Given the description of an element on the screen output the (x, y) to click on. 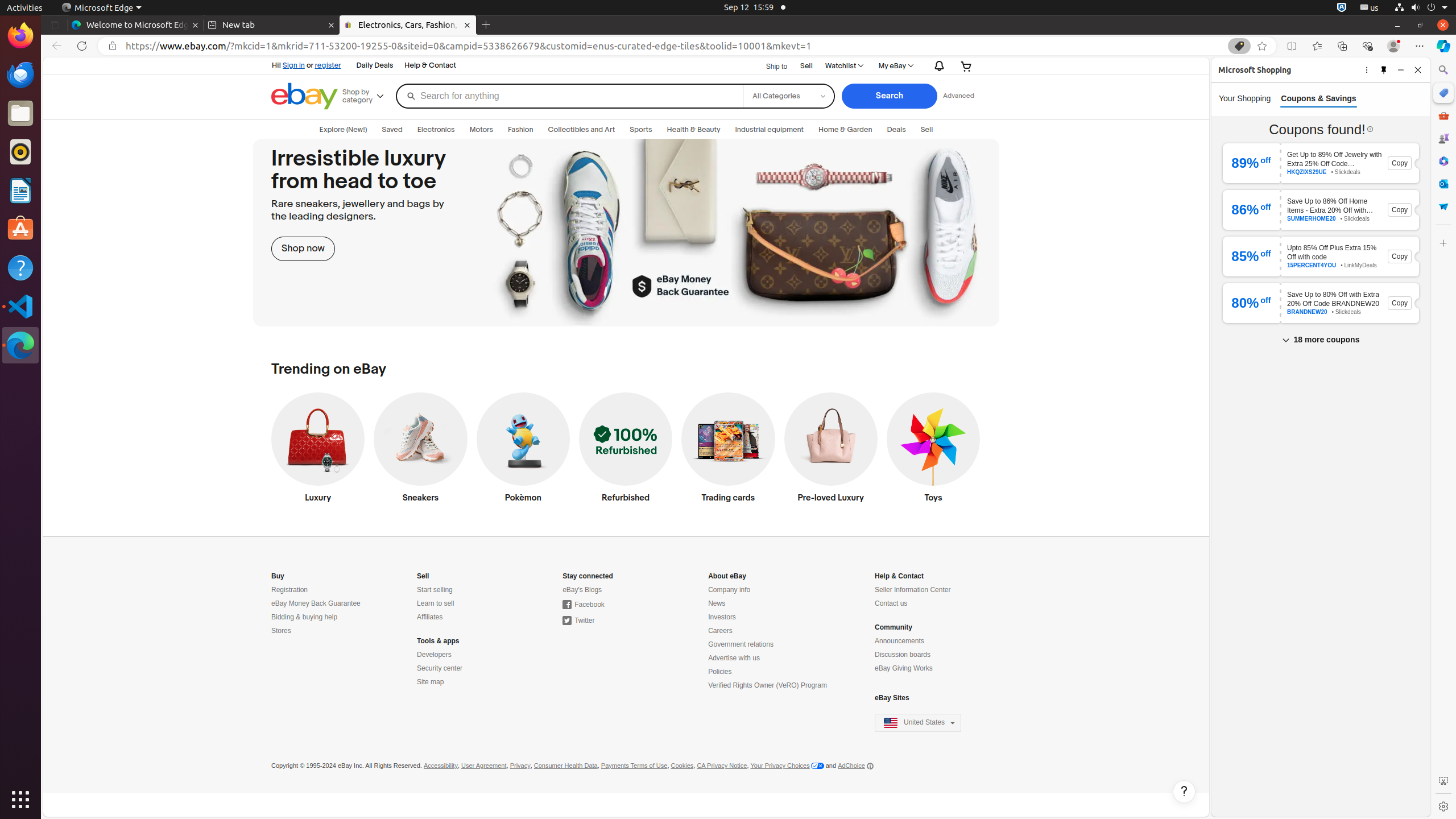
Visual Studio Code Element type: push-button (20, 306)
Screenshot Element type: push-button (1443, 780)
eBay Money Back Guarantee Element type: link (315, 603)
Security center Element type: link (439, 668)
Twitter Element type: link (578, 620)
